Given the description of an element on the screen output the (x, y) to click on. 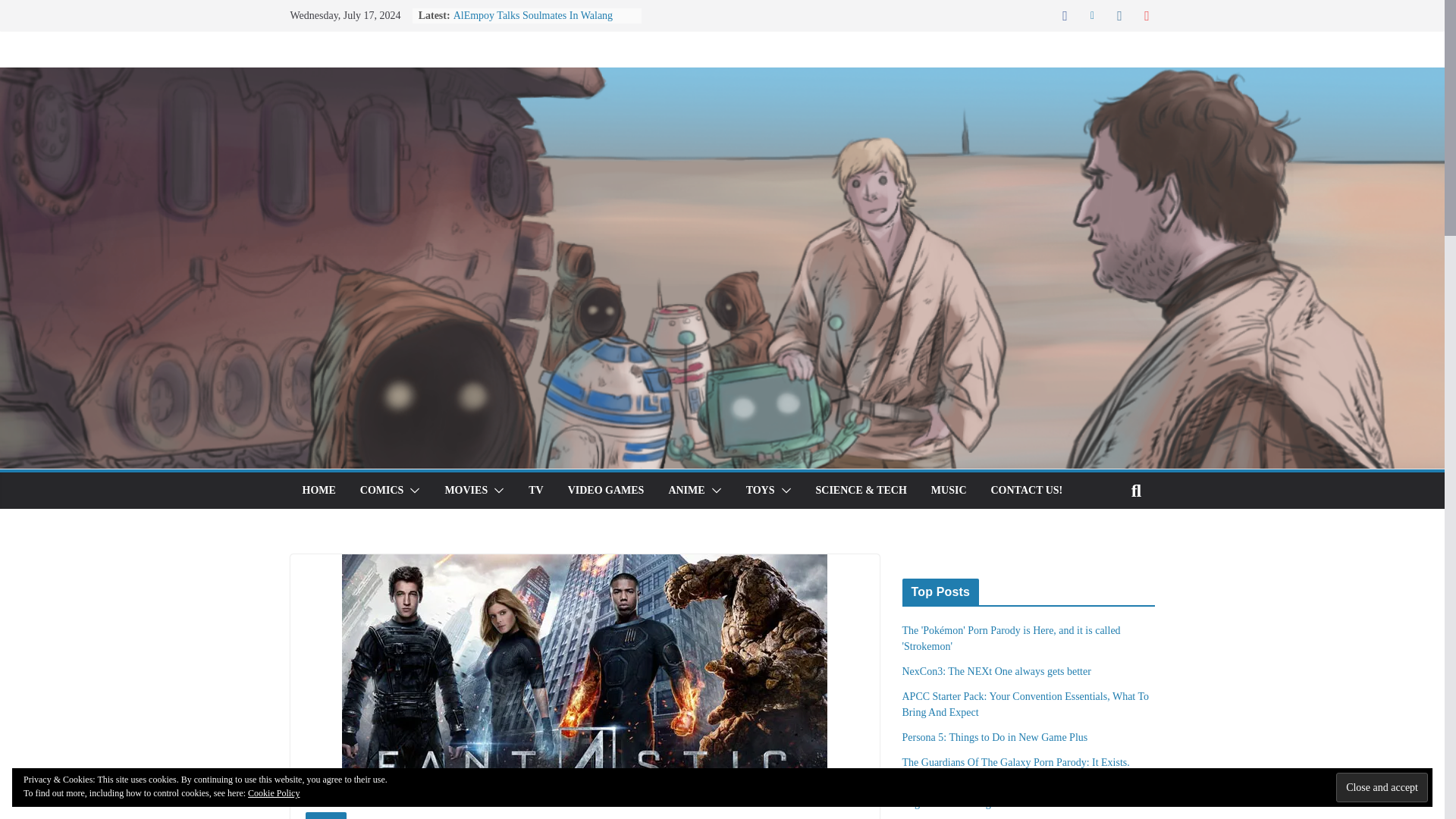
COMICS (381, 490)
TV (535, 490)
CONTACT US! (1026, 490)
ANIME (686, 490)
MOVIES (465, 490)
HOME (317, 490)
AlEmpoy Talks Soulmates In Walang KaParis Reunion (532, 22)
AlEmpoy Talks Soulmates In Walang KaParis Reunion (532, 22)
Close and accept (1382, 787)
TOYS (759, 490)
MUSIC (948, 490)
VIDEO GAMES (606, 490)
MOVIES (325, 815)
